Given the description of an element on the screen output the (x, y) to click on. 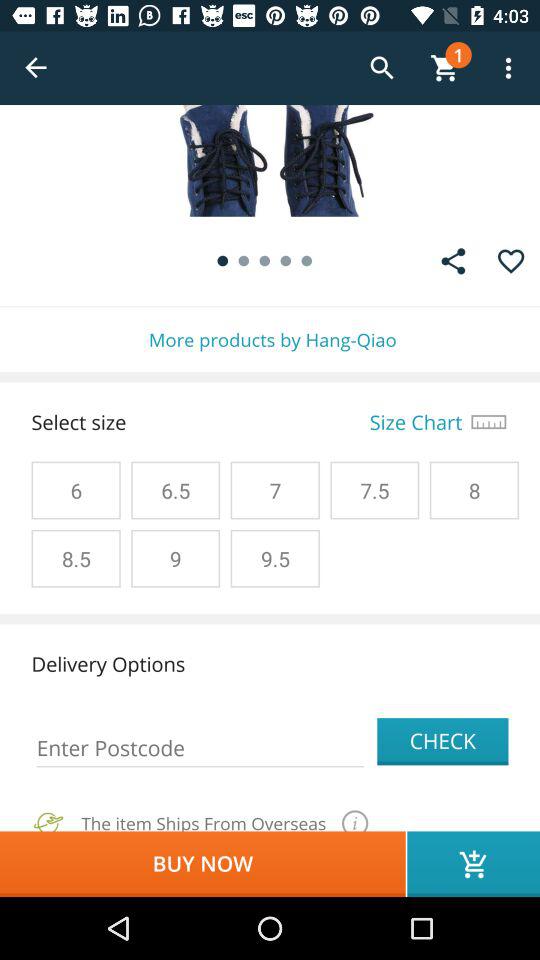
giving like (510, 261)
